Given the description of an element on the screen output the (x, y) to click on. 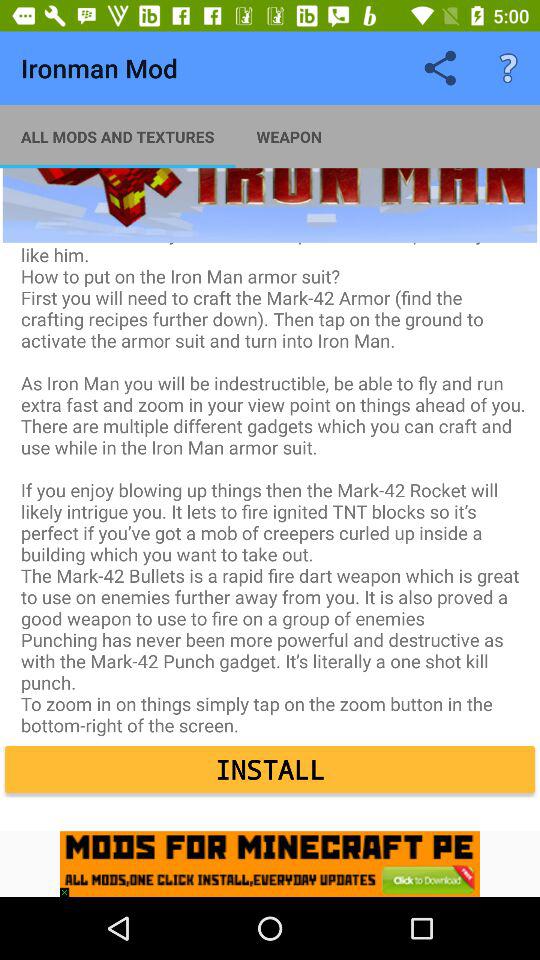
choose the app next to weapon app (117, 136)
